Given the description of an element on the screen output the (x, y) to click on. 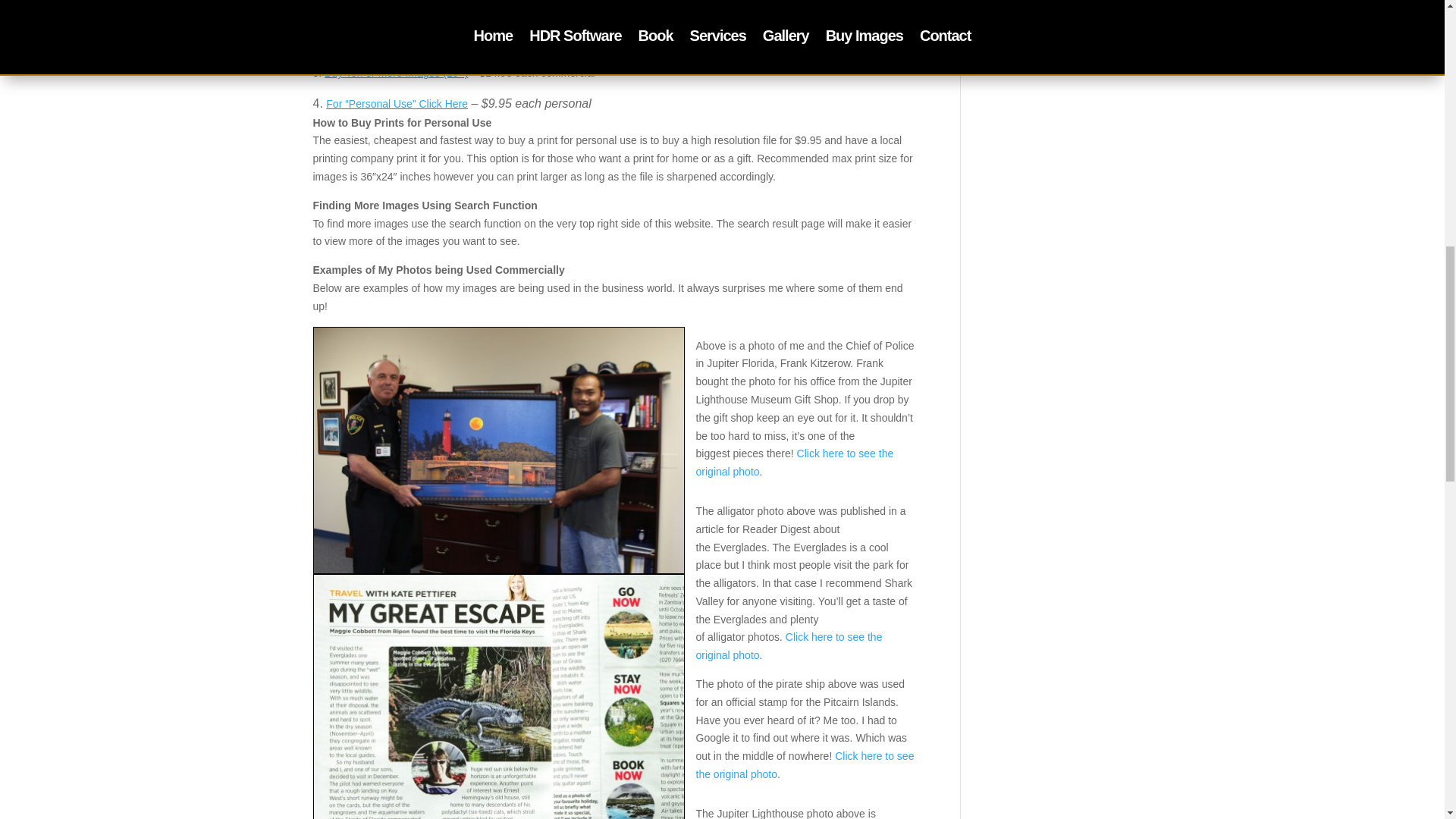
Click here to see the original photo (804, 765)
Click here to see the original photo (788, 645)
captain-kimo-with-jupiter-chief-of-police (498, 450)
Click here to see the original photo (794, 462)
